Given the description of an element on the screen output the (x, y) to click on. 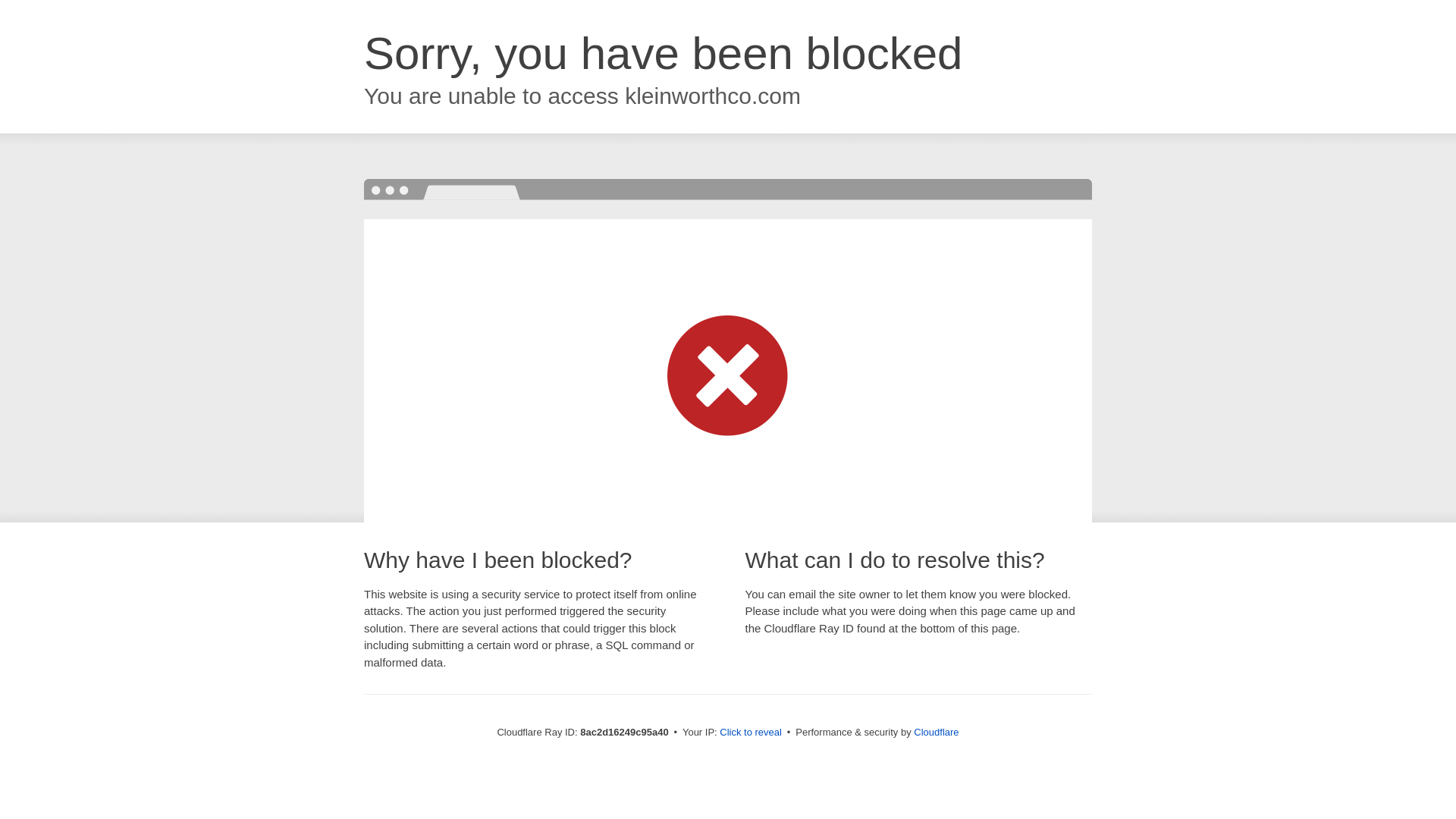
Click to reveal (750, 732)
Cloudflare (936, 731)
